Given the description of an element on the screen output the (x, y) to click on. 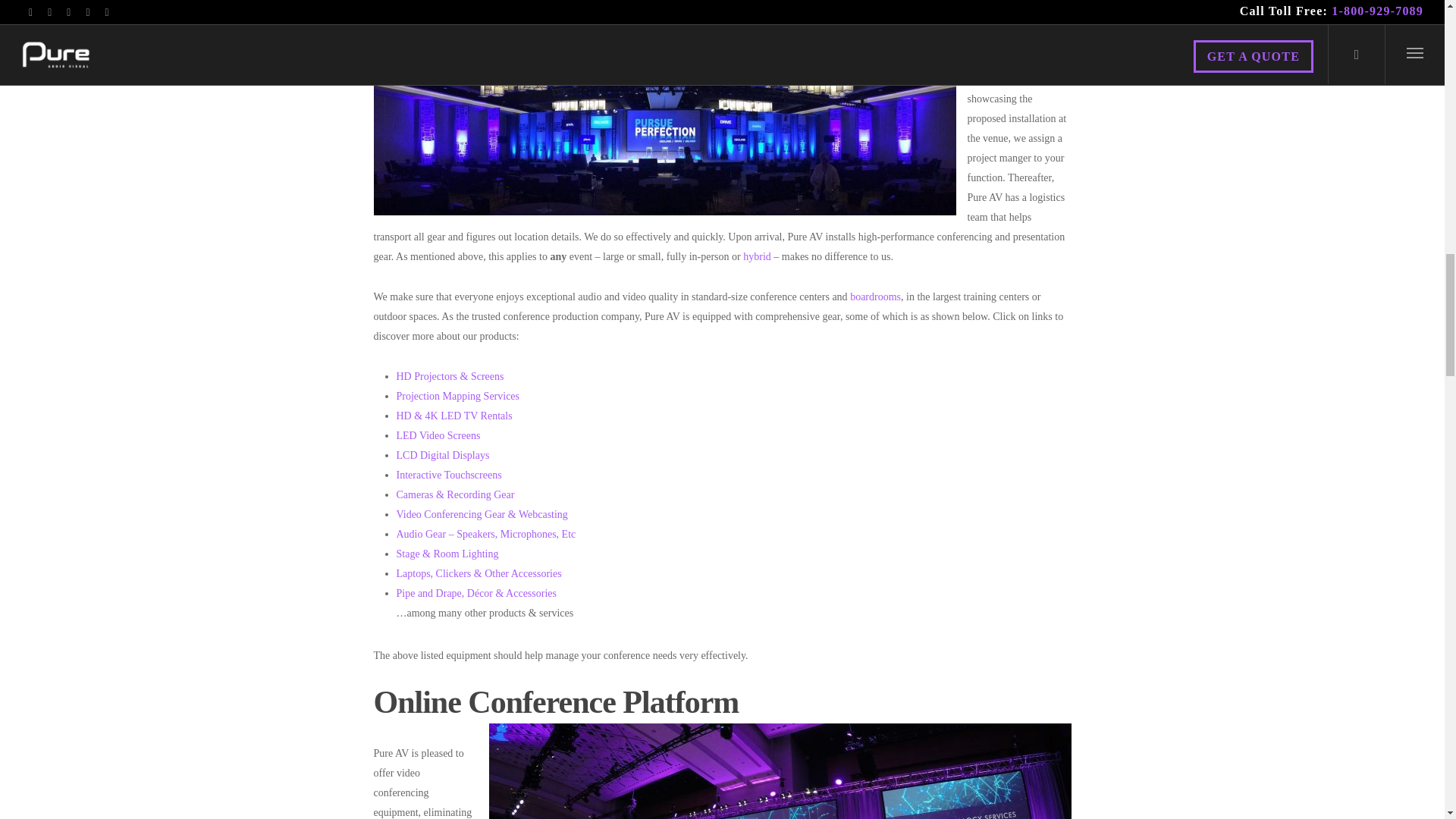
Projection Mapping Services (457, 396)
3D video rendering (1015, 79)
boardrooms (875, 296)
hybrid (756, 256)
